Given the description of an element on the screen output the (x, y) to click on. 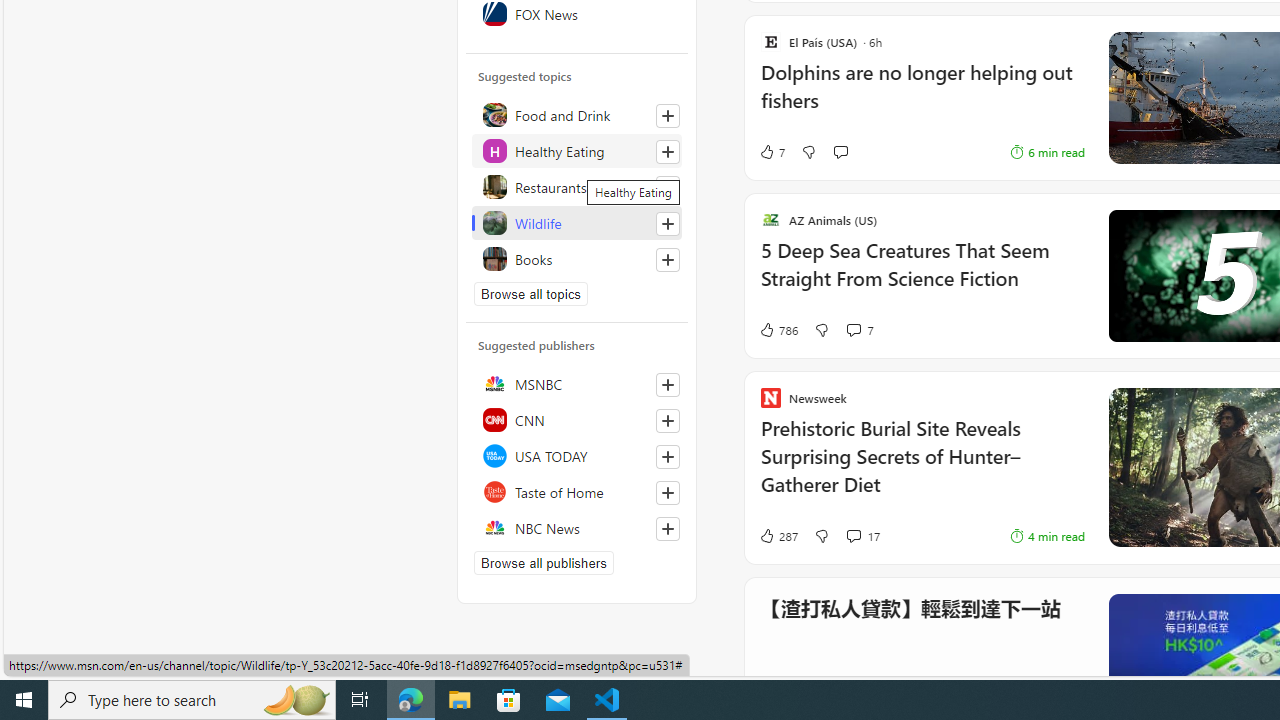
View comments 17 Comment (852, 536)
5 Deep Sea Creatures That Seem Straight From Science Fiction (922, 275)
Browse all topics (530, 294)
786 Like (778, 330)
7 Like (771, 151)
Follow this topic (667, 259)
Dolphins are no longer helping out fishers (922, 97)
Restaurants (577, 186)
Books (577, 258)
NBC News (577, 528)
